Given the description of an element on the screen output the (x, y) to click on. 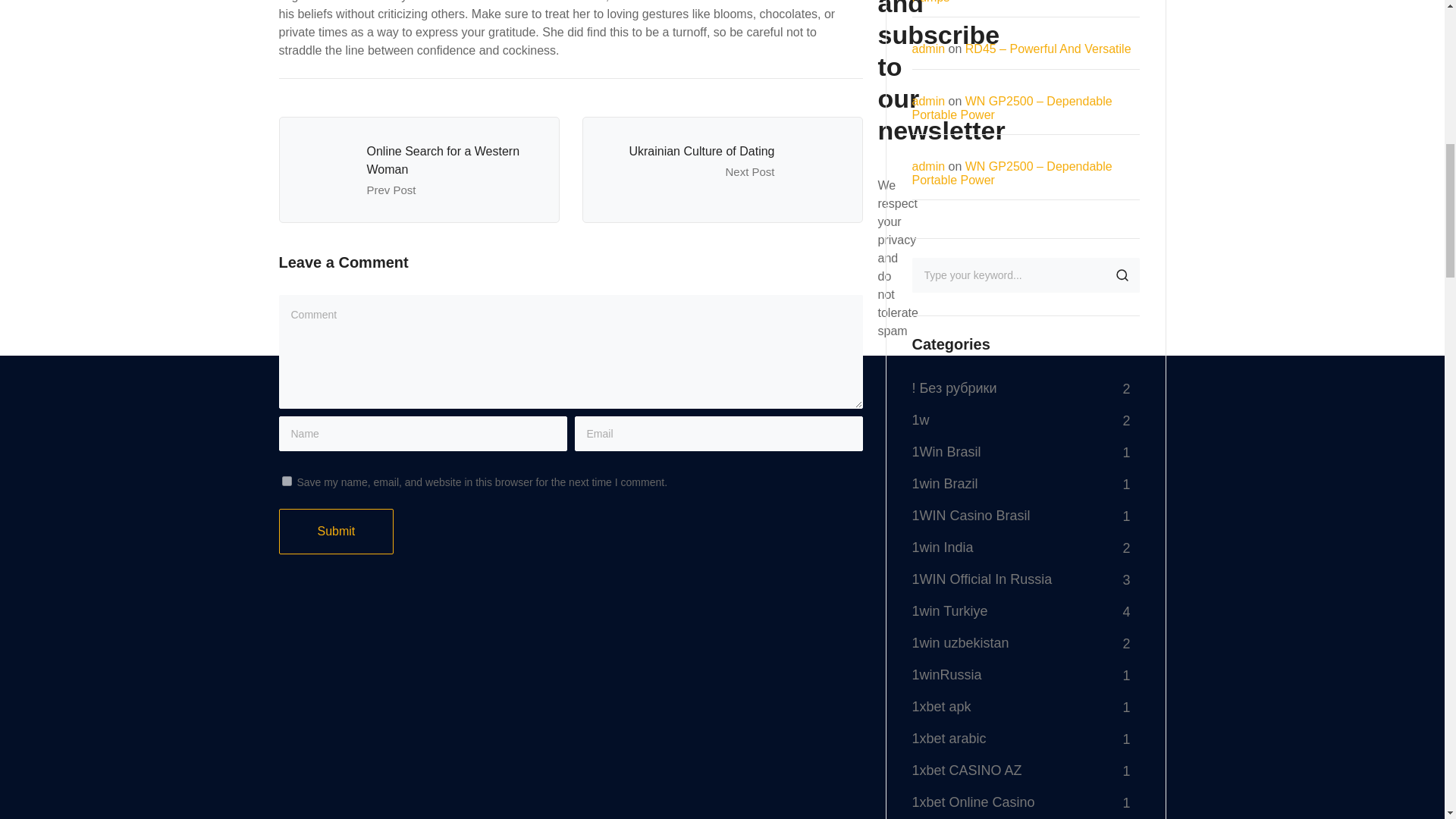
Submit (336, 531)
admin (927, 48)
admin (927, 101)
Search for: (1024, 274)
1Win Brasil (945, 451)
yes (287, 480)
Online Search for a Western Woman (442, 160)
Prev Post (391, 189)
1win Brazil (943, 483)
Submit (336, 531)
